Given the description of an element on the screen output the (x, y) to click on. 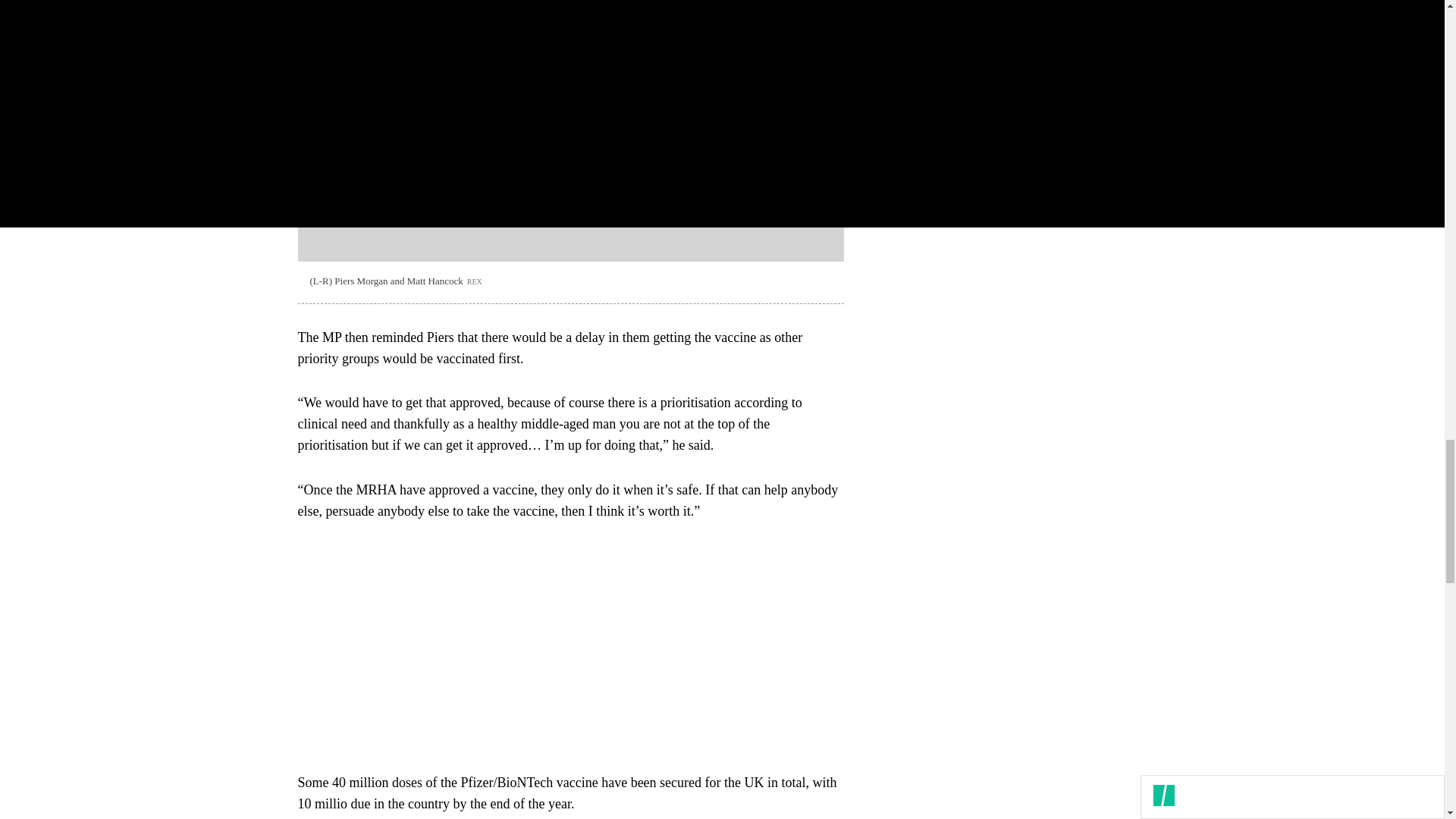
SIGN UP (1098, 97)
